Given the description of an element on the screen output the (x, y) to click on. 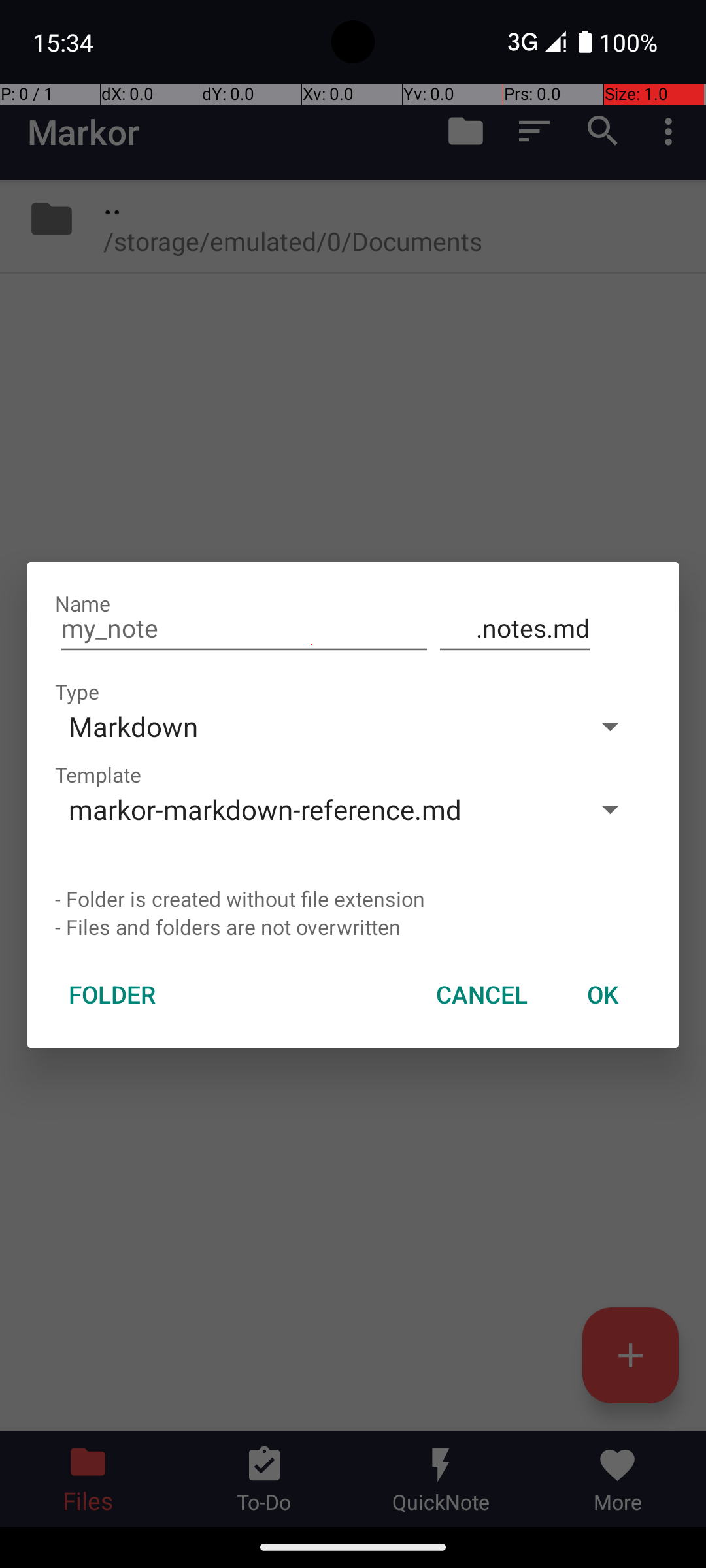
my_note Element type: android.widget.EditText (243, 628)
.notes.md Element type: android.widget.EditText (514, 628)
Type Element type: android.widget.TextView (76, 691)
Template Element type: android.widget.TextView (97, 774)
- Folder is created without file extension Element type: android.widget.TextView (352, 898)
- Files and folders are not overwritten Element type: android.widget.TextView (352, 926)
FOLDER Element type: android.widget.Button (111, 993)
Markdown Element type: android.widget.TextView (311, 725)
markor-markdown-reference.md Element type: android.widget.TextView (311, 808)
